Given the description of an element on the screen output the (x, y) to click on. 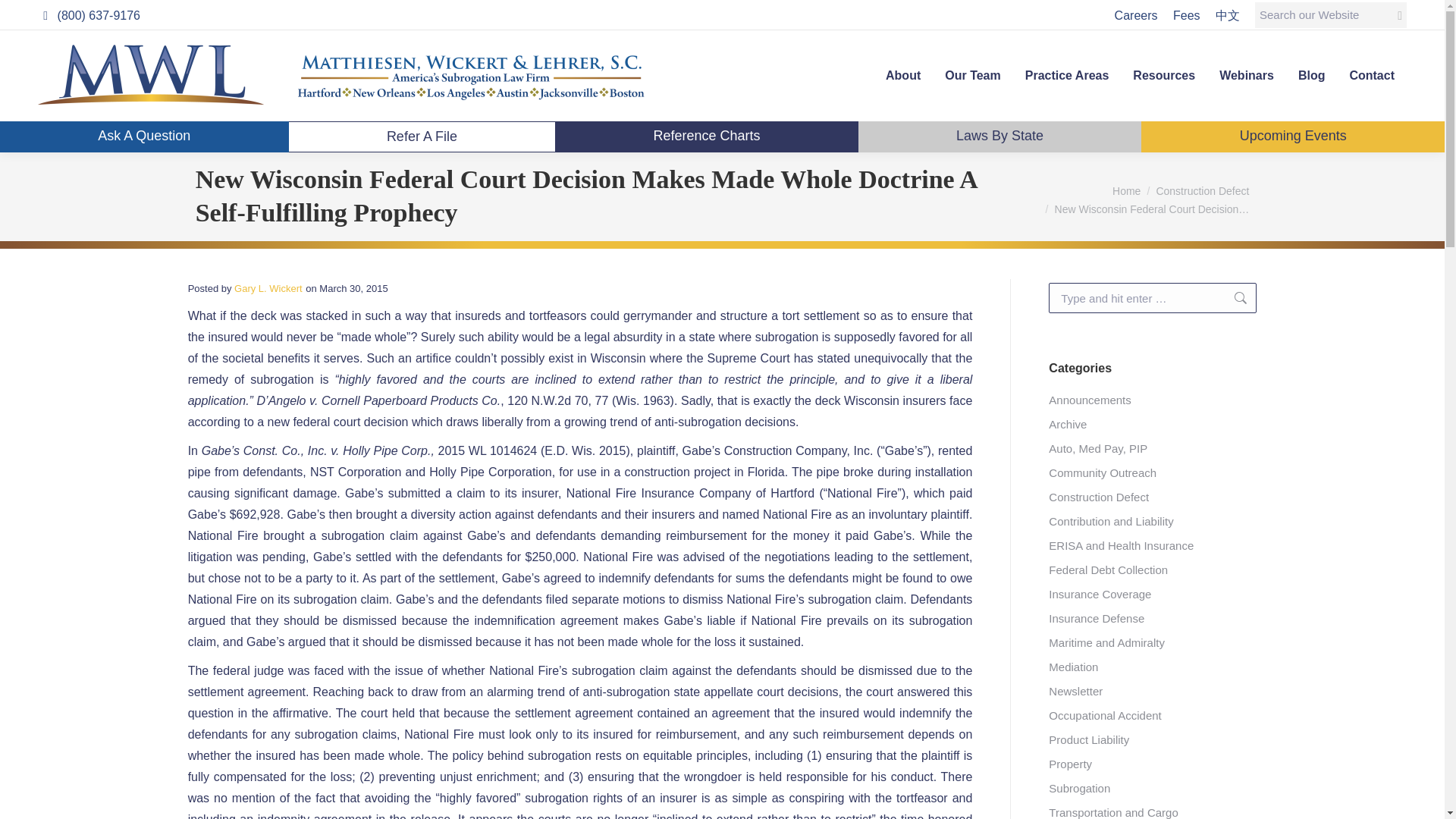
Go! (24, 16)
Go! (1233, 297)
Our Team (973, 75)
Construction Defect (1202, 191)
Careers (1136, 14)
Go! (1233, 297)
Resources (1163, 75)
Search form (1330, 14)
Fees (1186, 14)
Practice Areas (1067, 75)
